Given the description of an element on the screen output the (x, y) to click on. 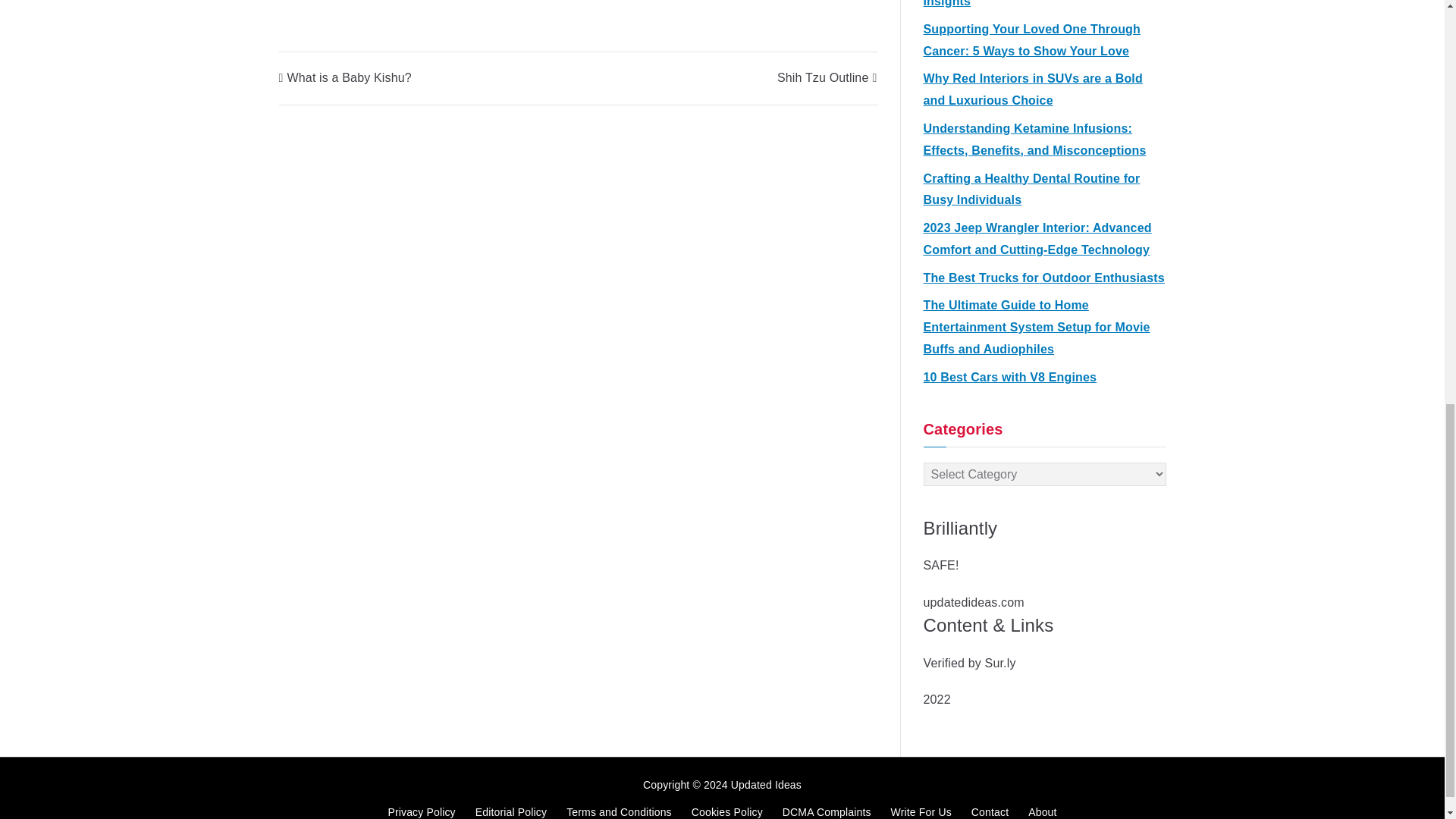
Updated Ideas (766, 784)
